Given the description of an element on the screen output the (x, y) to click on. 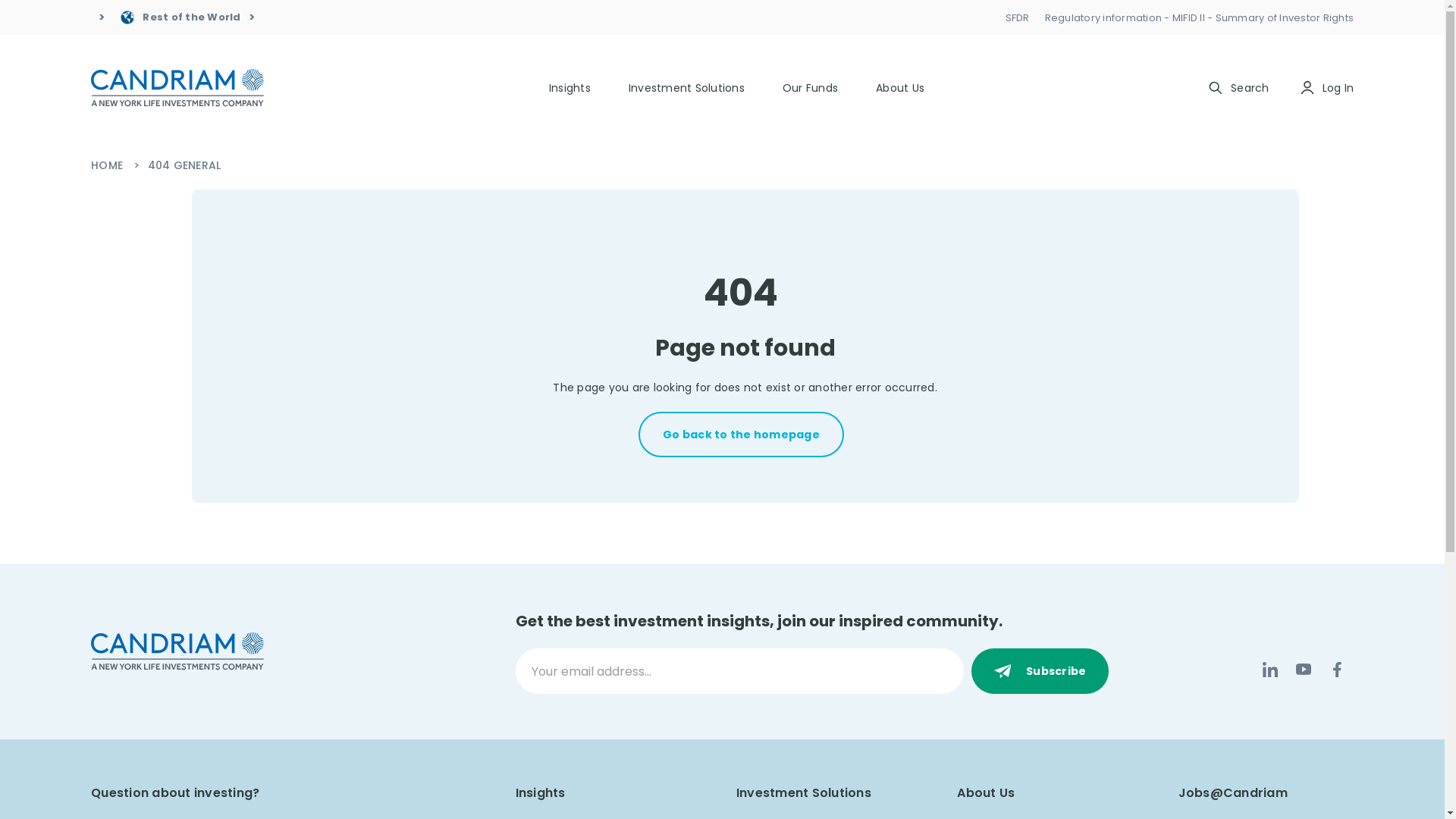
About Us Element type: text (899, 87)
Rest of the World
> Element type: text (186, 17)
Log In Element type: text (1326, 87)
> Element type: text (97, 17)
Search Element type: text (1238, 87)
HOME Element type: text (108, 164)
Subscribe Element type: text (1039, 670)
Investment Solutions Element type: text (686, 87)
SFDR Element type: text (1017, 17)
Insights Element type: text (569, 87)
Our Funds Element type: text (810, 87)
Go back to the homepage Element type: text (741, 434)
